Given the description of an element on the screen output the (x, y) to click on. 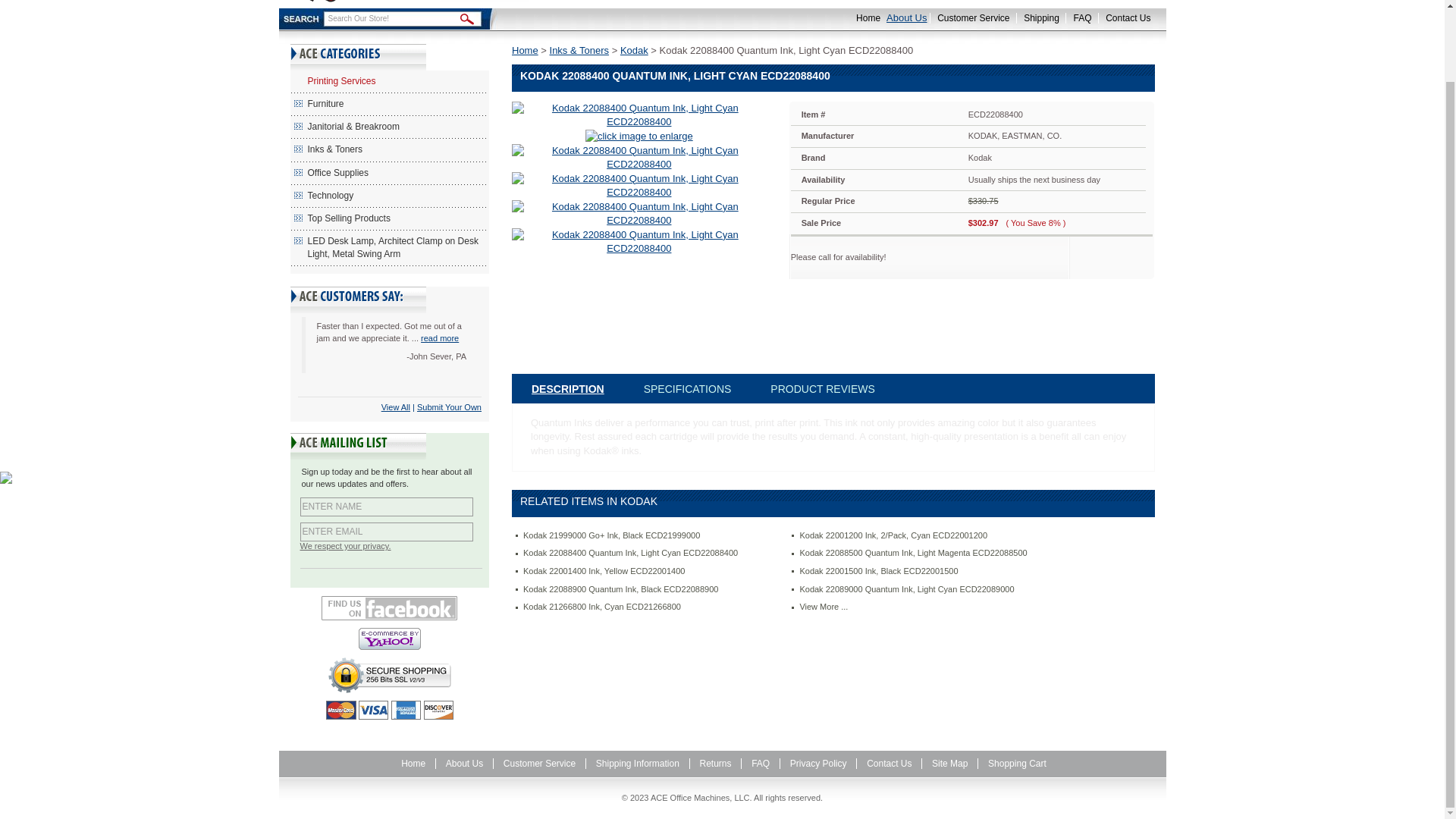
ENTER NAME (386, 506)
Home (864, 18)
Go (466, 19)
Printing Services (390, 81)
Go (466, 19)
FAQ (1077, 18)
Search Our Store! (391, 18)
About Us (906, 17)
Home (864, 18)
ENTER EMAIL (386, 531)
Customer Service (969, 18)
Contact Us (1123, 18)
Furniture (390, 104)
Search Our Store! (391, 18)
